Given the description of an element on the screen output the (x, y) to click on. 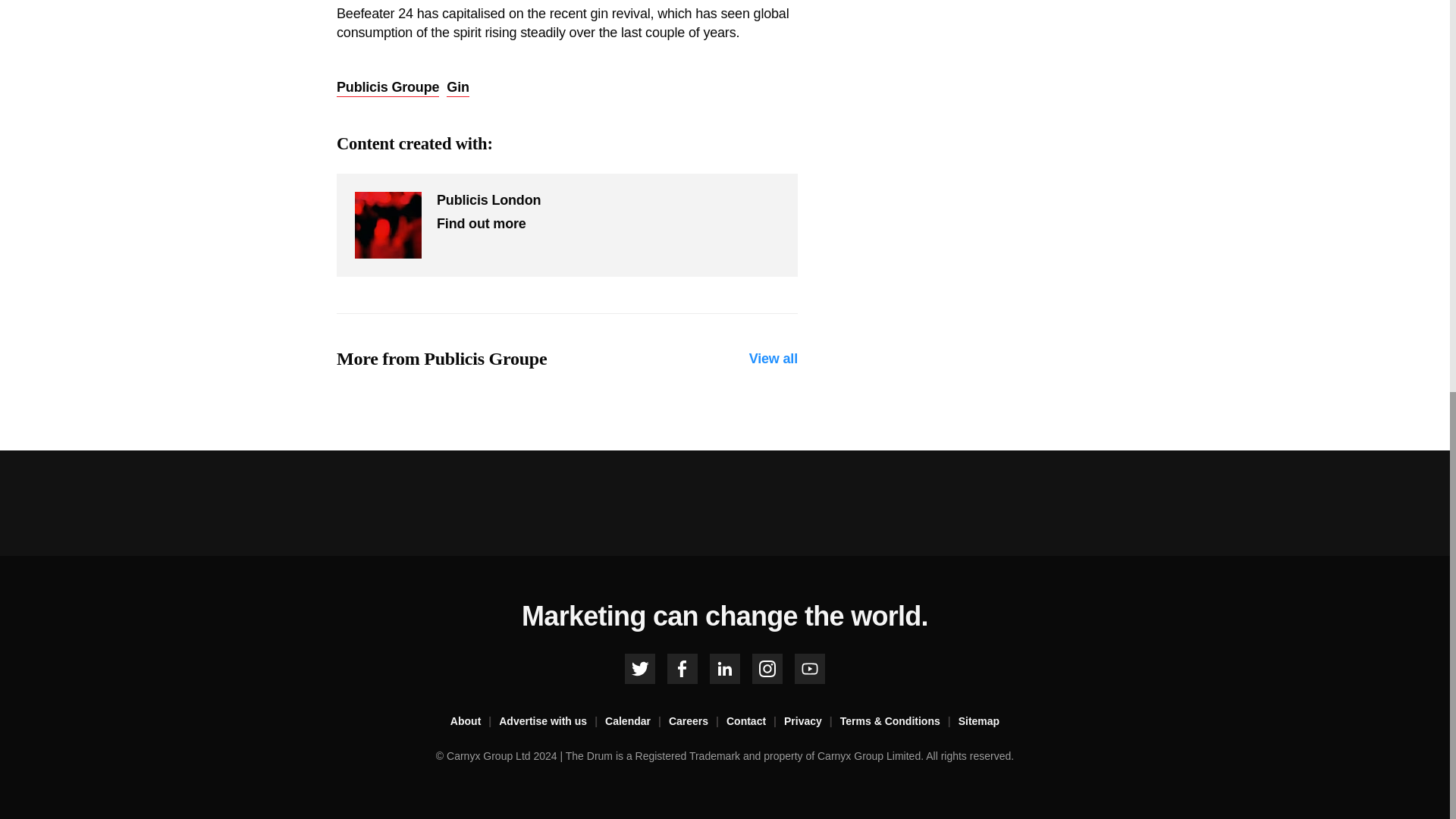
View all (773, 358)
Publicis Groupe (387, 87)
Gin (457, 87)
Sitemap (978, 721)
Calendar (636, 721)
Privacy (812, 721)
Careers (697, 721)
Contact (755, 721)
Advertise with us (552, 721)
Find out more (480, 223)
